Given the description of an element on the screen output the (x, y) to click on. 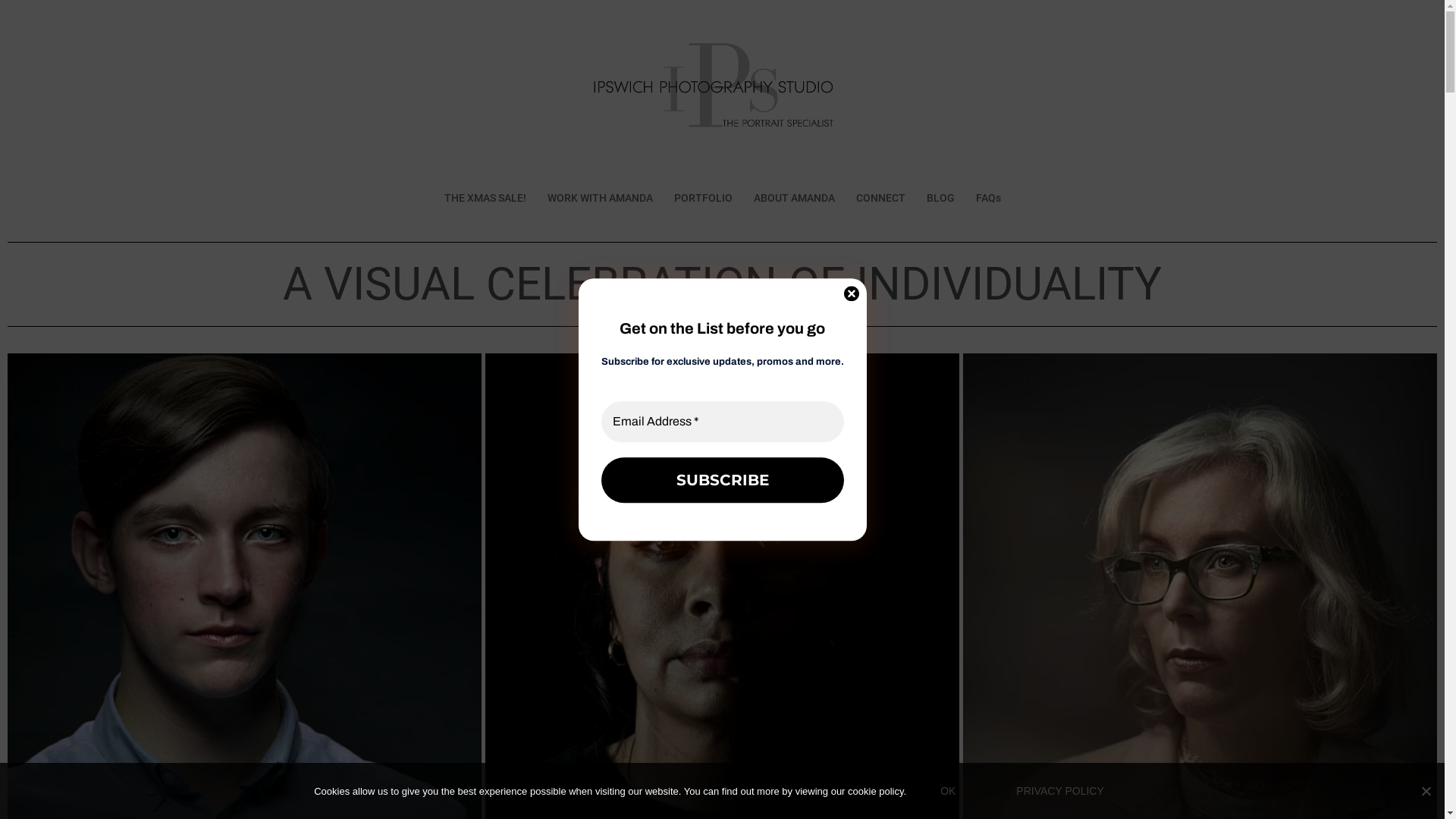
IPS Element type: hover (721, 95)
OK Element type: text (947, 790)
SUBSCRIBE Element type: text (721, 479)
Email Address Element type: hover (721, 421)
PORTFOLIO Element type: text (702, 198)
FAQs Element type: text (987, 198)
THE XMAS SALE! Element type: text (485, 198)
ABOUT AMANDA Element type: text (793, 198)
WORK WITH AMANDA Element type: text (599, 198)
PRIVACY POLICY Element type: text (1059, 790)
BLOG Element type: text (940, 198)
CONNECT Element type: text (879, 198)
No Element type: hover (1425, 790)
